Given the description of an element on the screen output the (x, y) to click on. 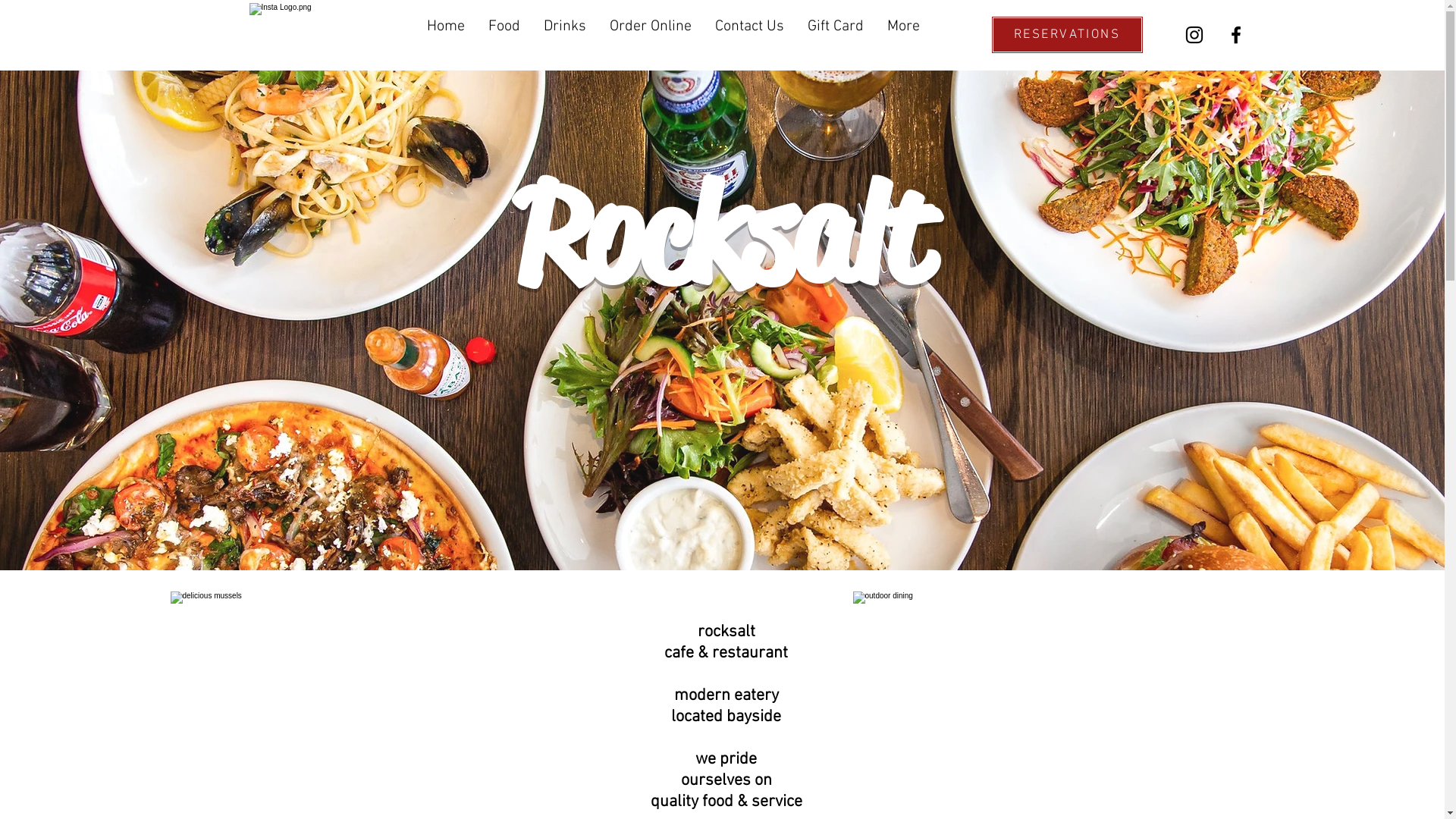
Gift Card Element type: text (835, 29)
RESERVATIONS Element type: text (1066, 34)
Home Element type: text (445, 29)
Drinks Element type: text (564, 29)
Contact Us Element type: text (749, 29)
Food Element type: text (503, 29)
Order Online Element type: text (649, 29)
